Given the description of an element on the screen output the (x, y) to click on. 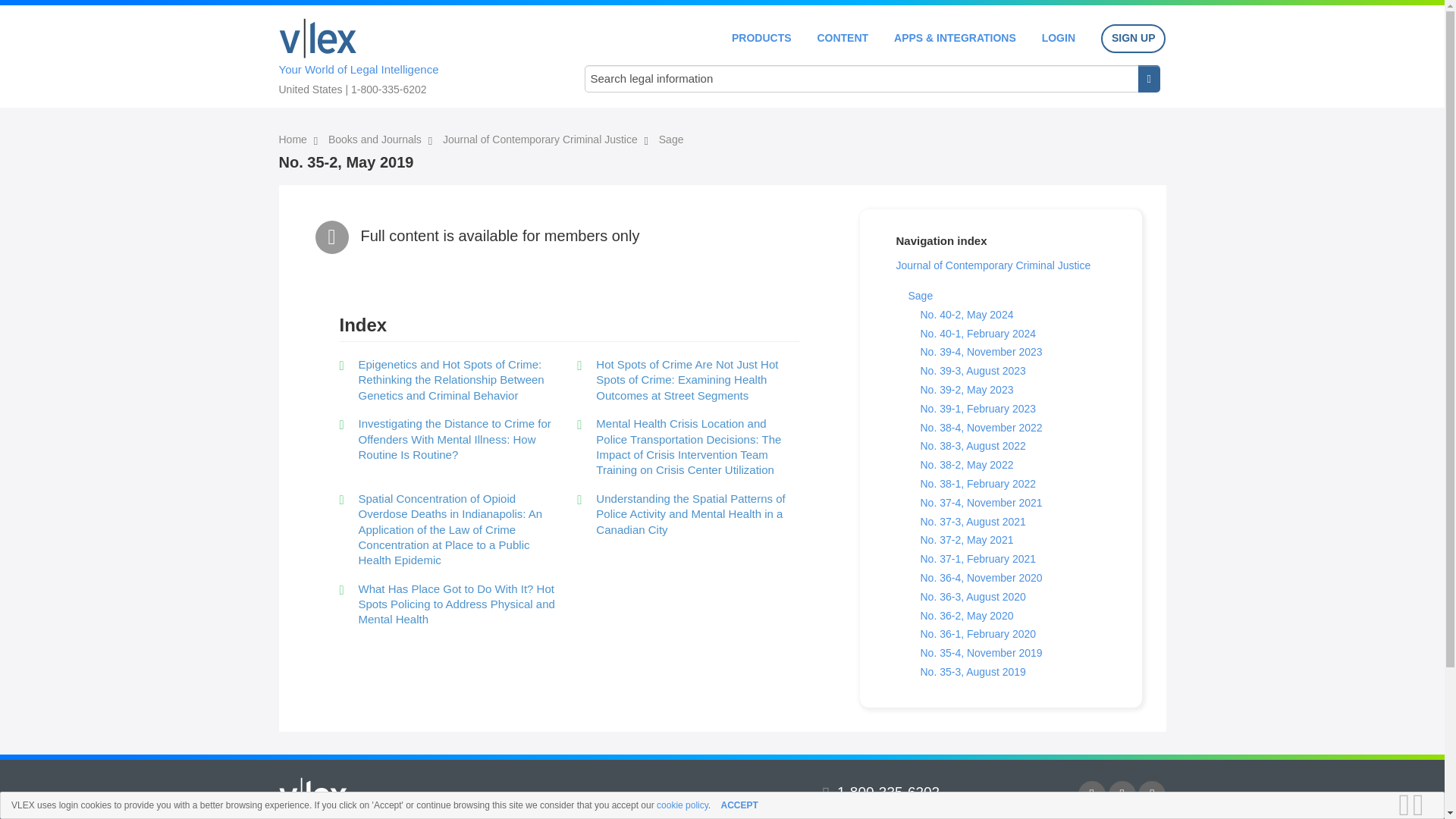
Books and Journals (377, 139)
No. 38-2, May 2022 (966, 464)
No. 40-1, February 2024 (978, 333)
No. 36-2, May 2020 (966, 615)
No. 36-1, February 2020 (978, 633)
Journal of Contemporary Criminal Justice (993, 265)
